Given the description of an element on the screen output the (x, y) to click on. 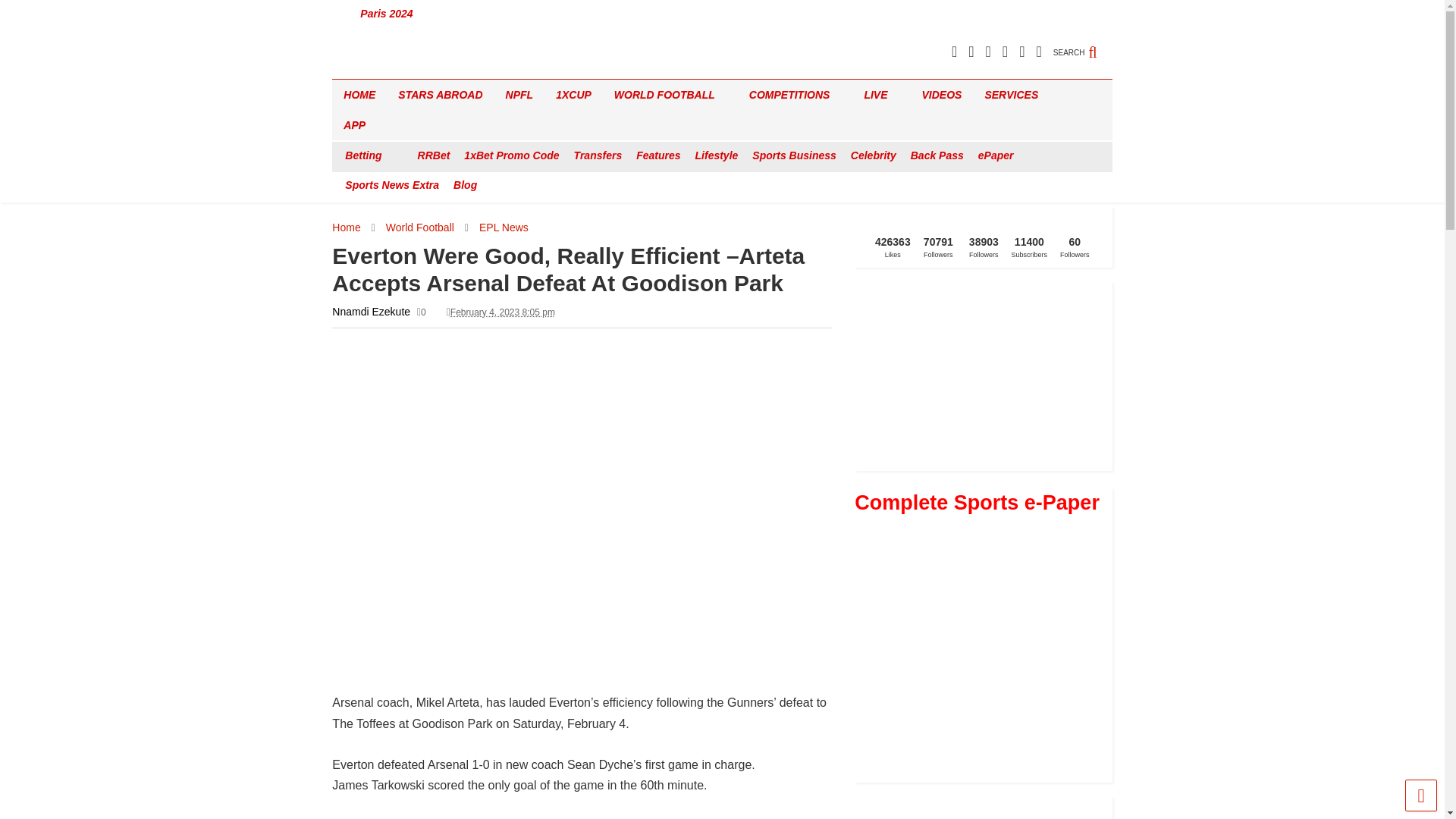
February 4, 2023 8:13 pm (501, 312)
HOME (359, 94)
Nnamdi Ezekute (370, 311)
NPFL (519, 94)
SEARCH (1082, 44)
Complete Sports (383, 66)
Paris 2024 (386, 13)
VIDEOS (942, 94)
WORLD FOOTBALL (670, 94)
COMPETITIONS (795, 94)
